Given the description of an element on the screen output the (x, y) to click on. 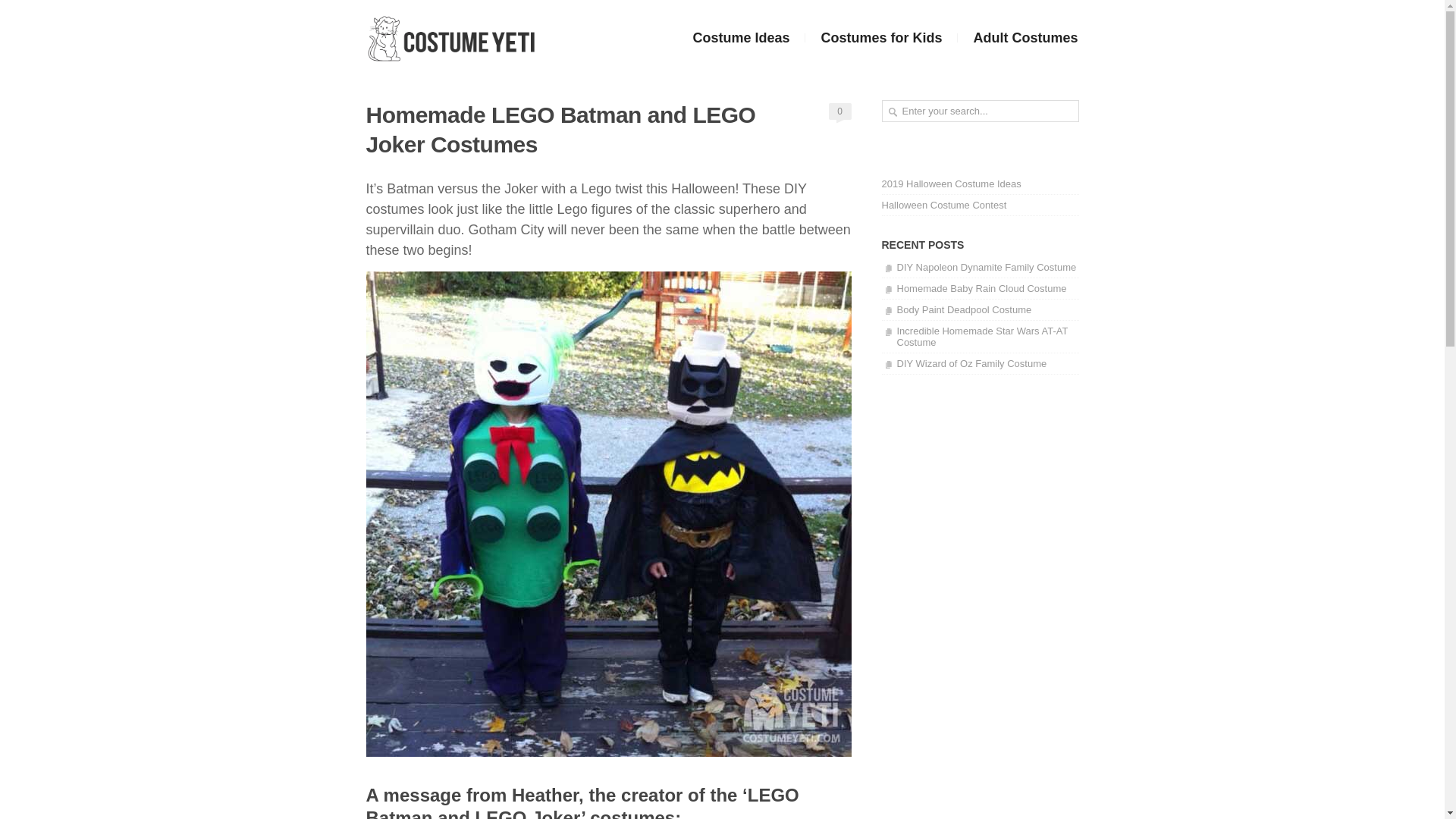
Enter your search... (979, 110)
Costumes for Kids (880, 37)
Adult Costumes (1017, 37)
Costume Ideas (741, 37)
Costume Yeti (450, 38)
0 (839, 111)
